Given the description of an element on the screen output the (x, y) to click on. 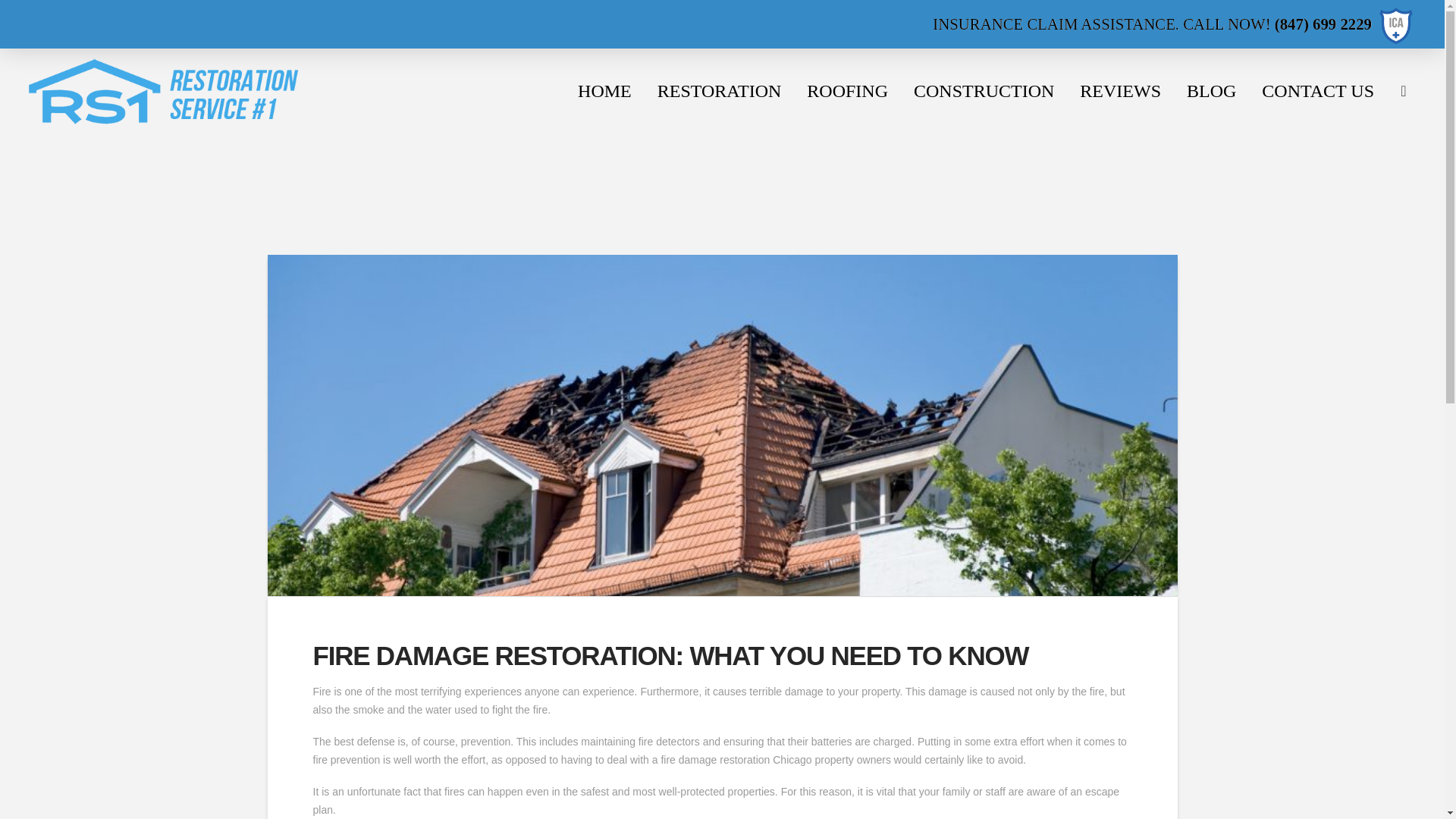
RESTORATION (719, 90)
CONTACT US (1318, 90)
ROOFING (847, 90)
CONSTRUCTION (984, 90)
REVIEWS (1120, 90)
HOME (604, 90)
